Given the description of an element on the screen output the (x, y) to click on. 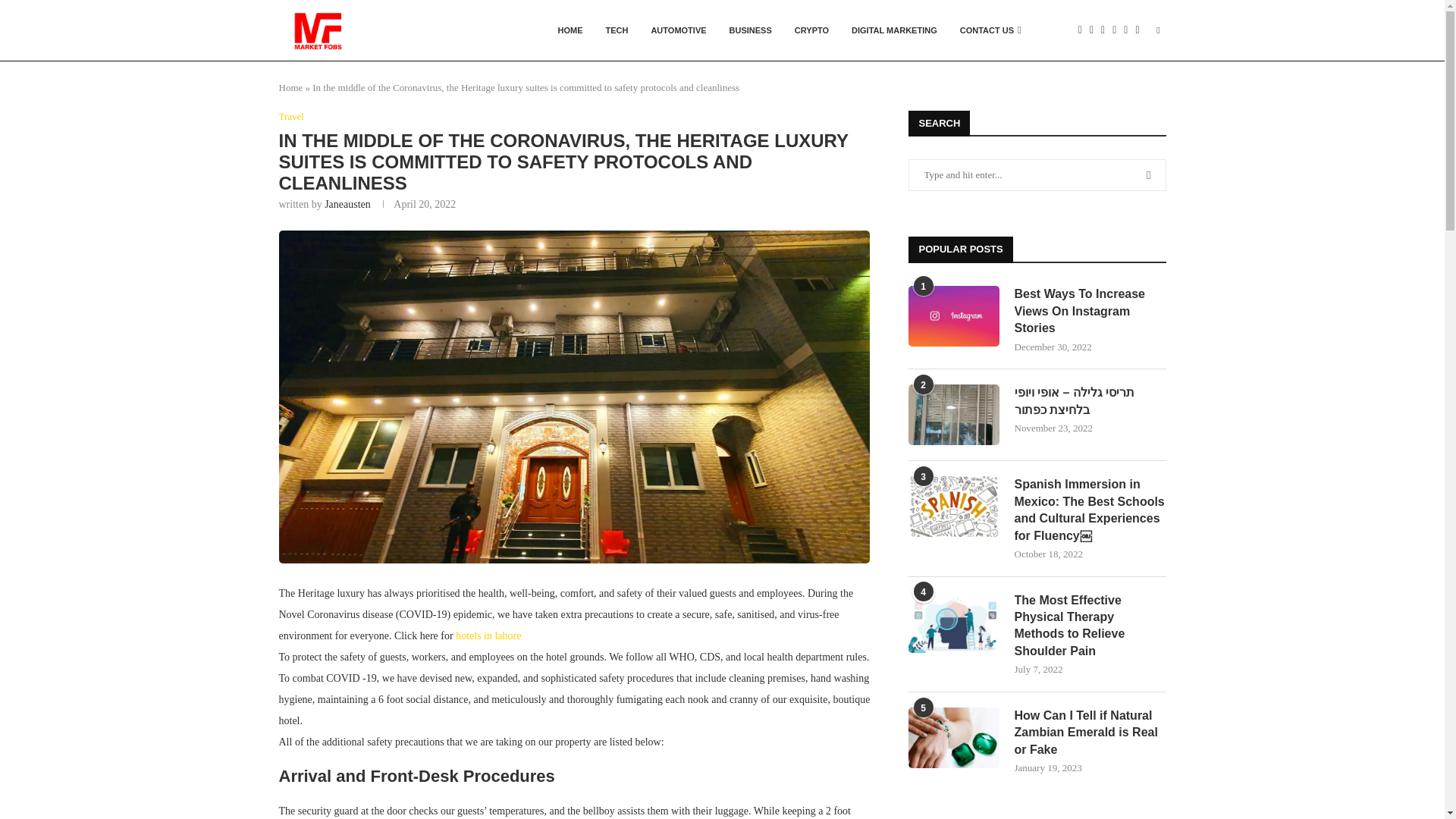
Travel (291, 116)
hotels in lahore (488, 635)
CONTACT US (990, 30)
AUTOMOTIVE (678, 30)
Janeausten (347, 204)
Home (290, 87)
DIGITAL MARKETING (894, 30)
BUSINESS (750, 30)
CRYPTO (811, 30)
